Given the description of an element on the screen output the (x, y) to click on. 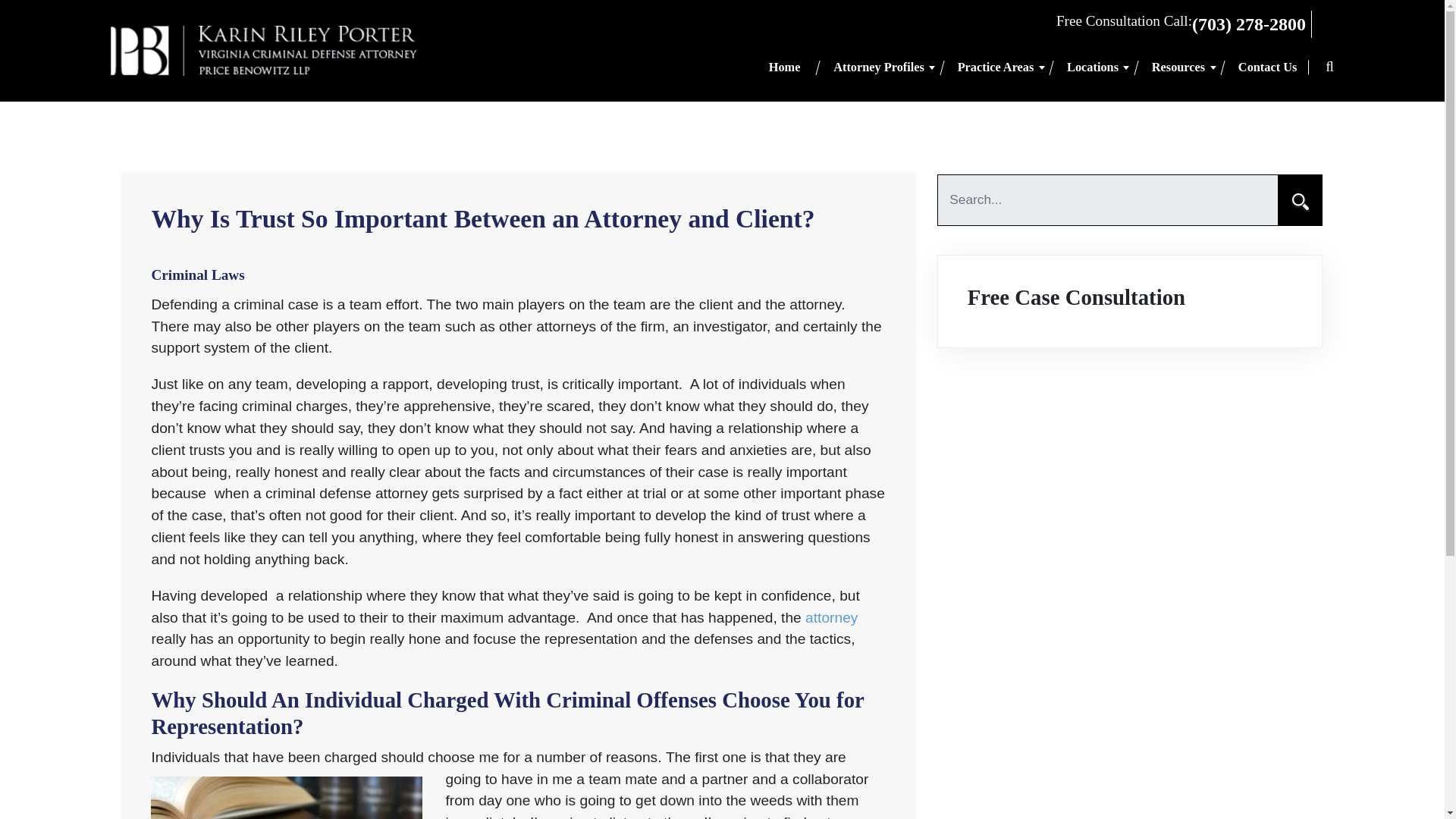
Practice Areas (995, 68)
Locations (1092, 68)
Attorney Profiles (878, 68)
